Given the description of an element on the screen output the (x, y) to click on. 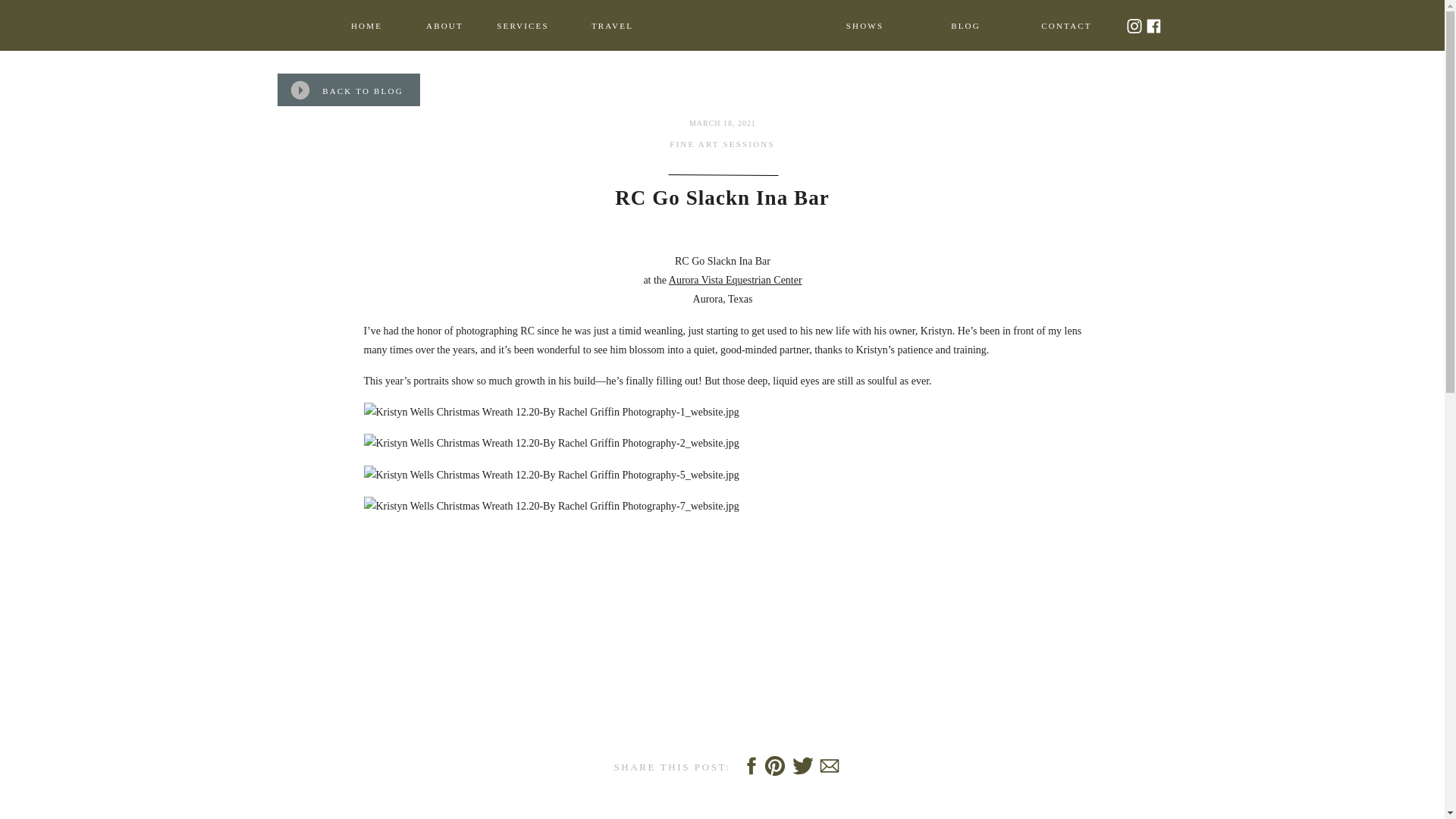
FINE ART SESSIONS (721, 143)
BACK TO BLOG (362, 90)
TRAVEL (612, 25)
HOME (366, 25)
BLOG (965, 25)
SHOWS (865, 25)
CONTACT (1066, 25)
ABOUT (444, 25)
Facebook Copy-color Created with Sketch. (1153, 26)
SERVICES (523, 25)
